Given the description of an element on the screen output the (x, y) to click on. 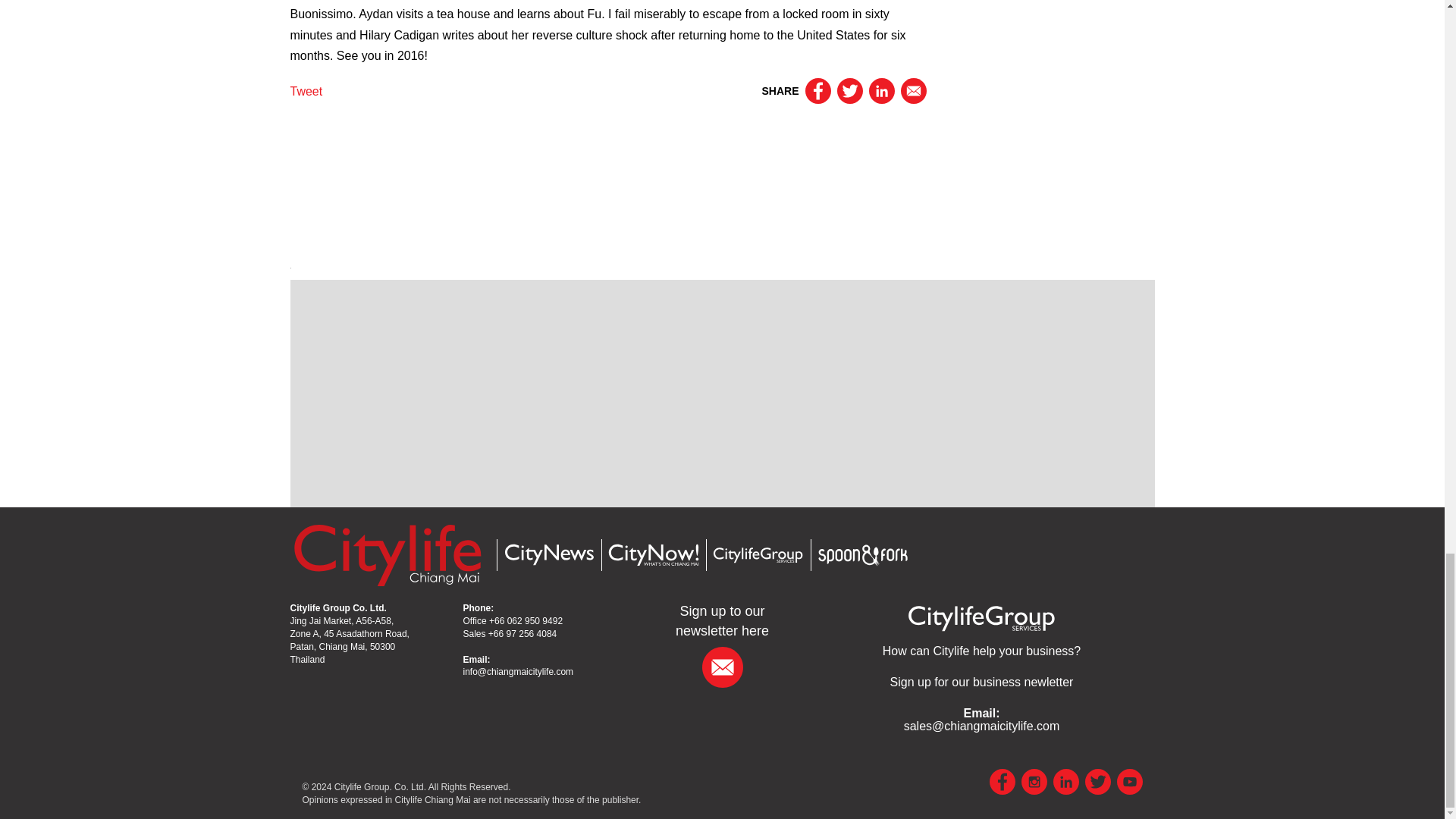
CityNews (548, 554)
Citylife Group Services (981, 617)
CityNow - What's on Chiang Mai (652, 554)
Citylife Group Services (757, 554)
Sign up for our business newletter (981, 681)
Citylife Group Services (981, 650)
Chiang Mai Citylife (386, 554)
Citylife Group. Co. Ltd. (380, 787)
Sign up to our newsletter here (721, 620)
How can Citylife help your business? (981, 650)
